Given the description of an element on the screen output the (x, y) to click on. 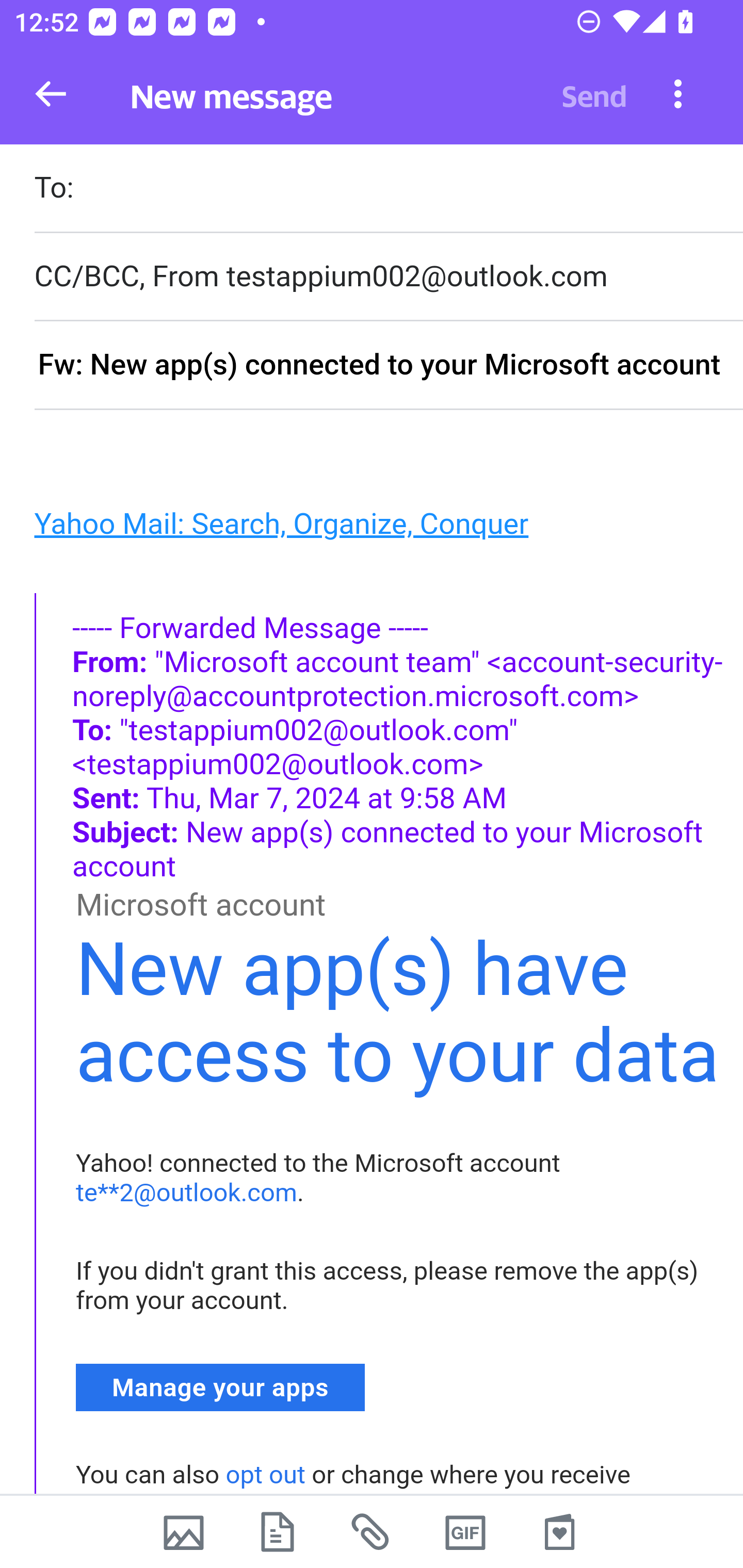
Back (50, 93)
Send (594, 93)
More options (677, 93)
To: (387, 189)
CC/BCC, From testappium002@outlook.com (387, 276)
Fw: New app(s) connected to your Microsoft account (387, 365)
Yahoo Mail: Search, Organize, Conquer (280, 522)
te**2@outlook.com (186, 1192)
Manage your apps (220, 1386)
opt out (264, 1474)
Camera photos (183, 1531)
Device files (277, 1531)
Recent attachments from mail (371, 1531)
GIFs (465, 1531)
Stationery (559, 1531)
